Given the description of an element on the screen output the (x, y) to click on. 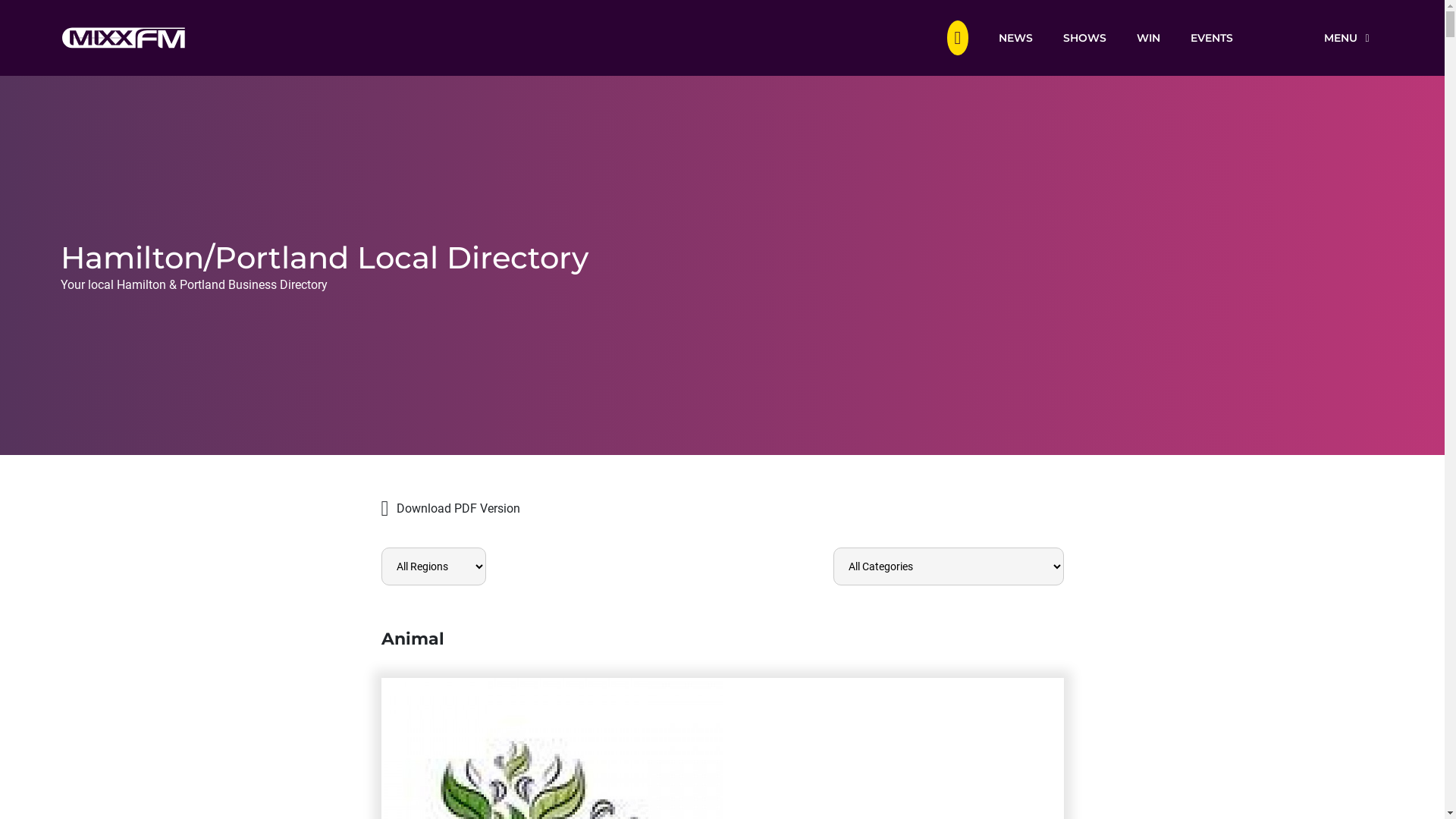
SHOWS Element type: text (1084, 36)
EVENTS Element type: text (1211, 36)
NEWS Element type: text (1015, 36)
Download PDF Version Element type: text (721, 508)
WIN Element type: text (1148, 36)
